Given the description of an element on the screen output the (x, y) to click on. 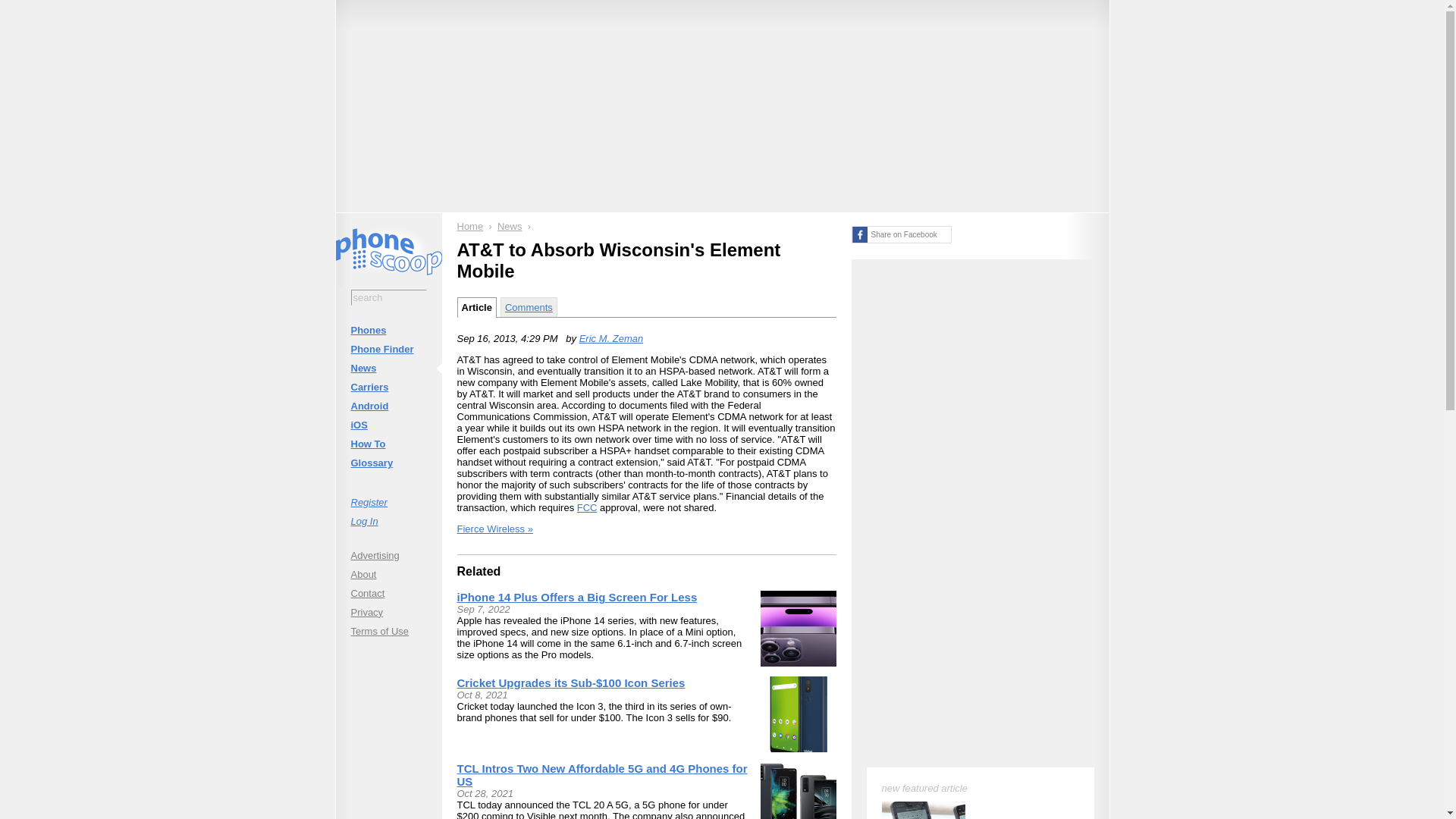
Related (478, 571)
Contact (387, 592)
iOS (387, 424)
Log In (387, 520)
Register (387, 502)
Carriers (387, 386)
Phones (387, 330)
Eric M. Zeman (611, 337)
Android (387, 405)
News (387, 367)
Advertising (387, 555)
FCC (586, 507)
Privacy (387, 610)
FCC (586, 507)
Home (470, 225)
